Given the description of an element on the screen output the (x, y) to click on. 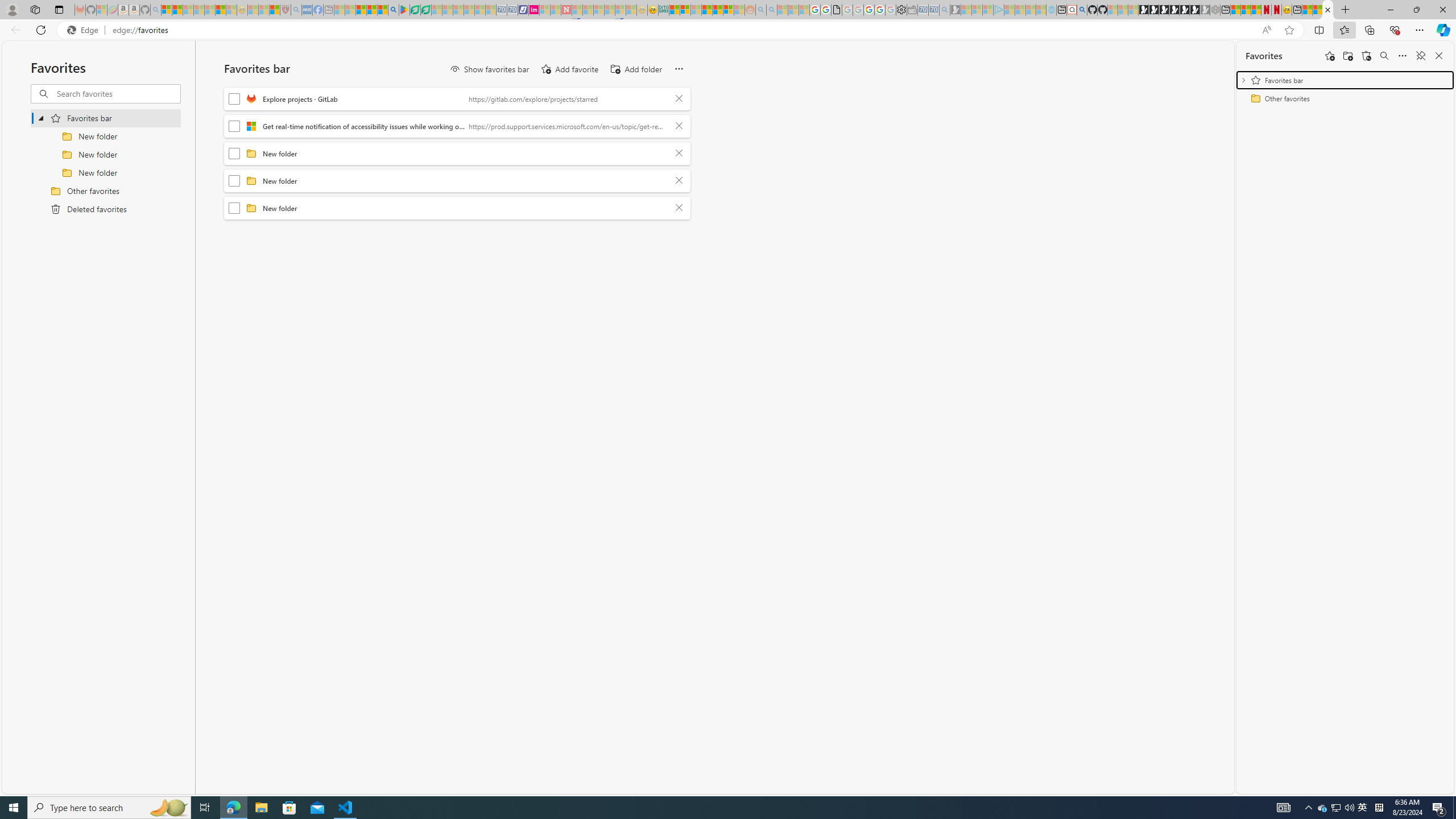
Jobs - lastminute.com Investor Portal (534, 9)
